Given the description of an element on the screen output the (x, y) to click on. 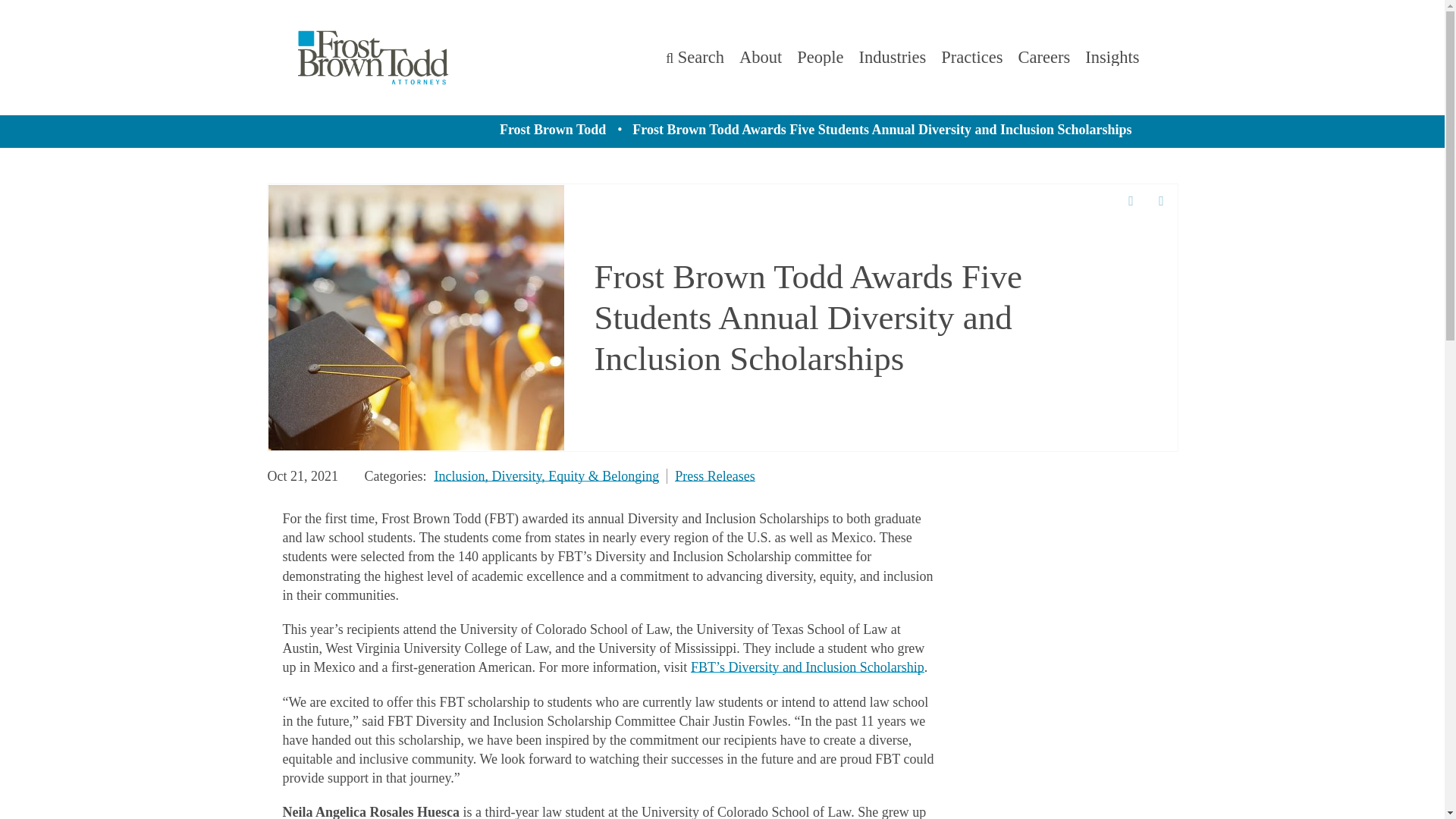
Search (694, 56)
Industries (892, 57)
People (819, 56)
About (760, 57)
